Given the description of an element on the screen output the (x, y) to click on. 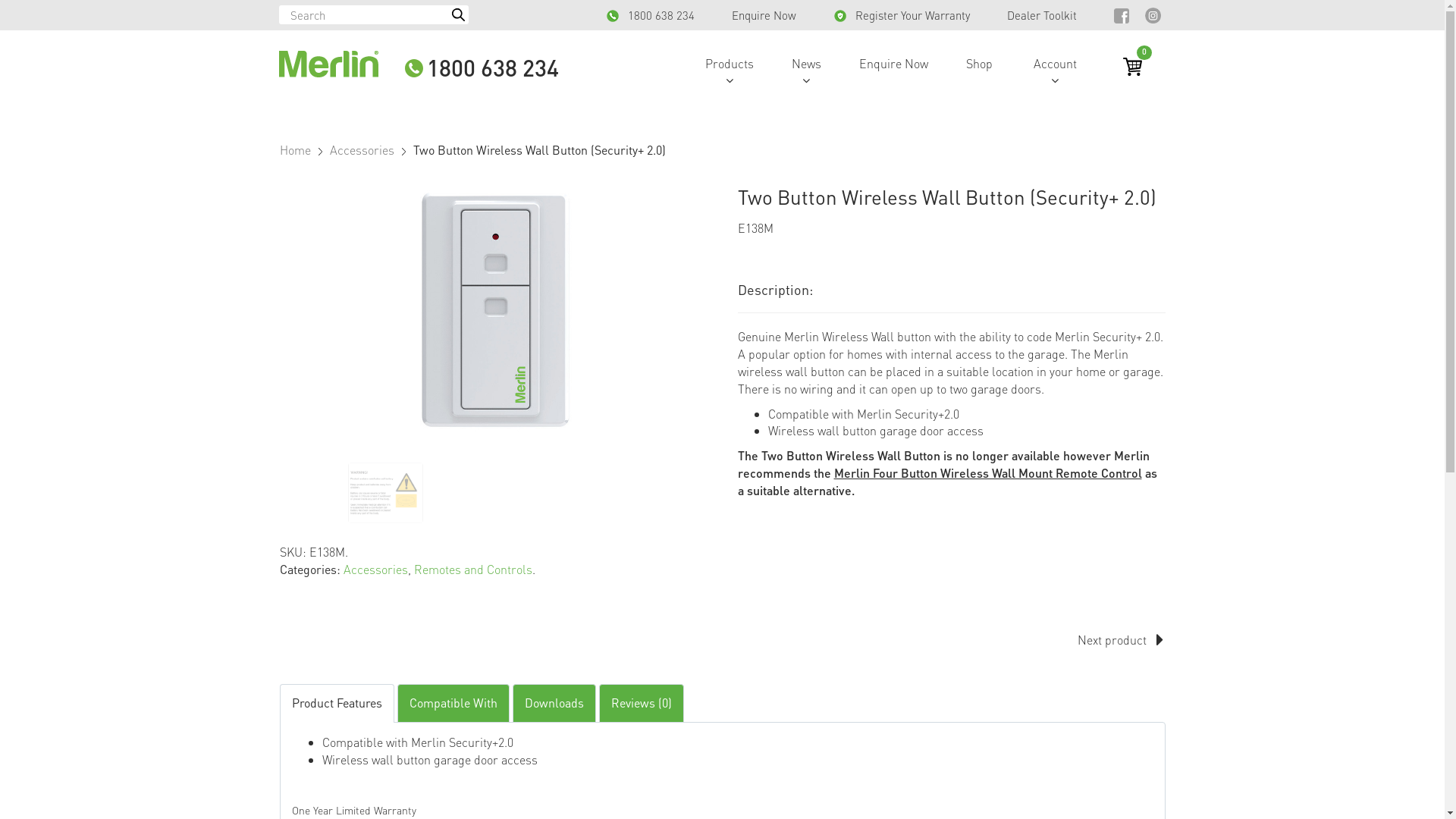
Accessories Element type: text (361, 149)
0 Element type: text (1131, 65)
Account Element type: text (1054, 63)
Merlin Four Button Wireless Wall Mount Remote Control Element type: text (988, 472)
News Element type: text (805, 63)
Dealer Toolkit Element type: text (1043, 14)
Remotes and Controls Element type: text (473, 569)
Enquire Now Element type: text (893, 63)
Shop Element type: text (978, 63)
1800 638 234 Element type: text (481, 67)
Products Element type: text (728, 63)
Next product Element type: text (1110, 639)
Home Element type: text (294, 149)
1800 638 234 Element type: text (650, 14)
Accessories Element type: text (374, 569)
Enquire Now Element type: text (764, 14)
Register Your Warranty Element type: text (902, 14)
